Given the description of an element on the screen output the (x, y) to click on. 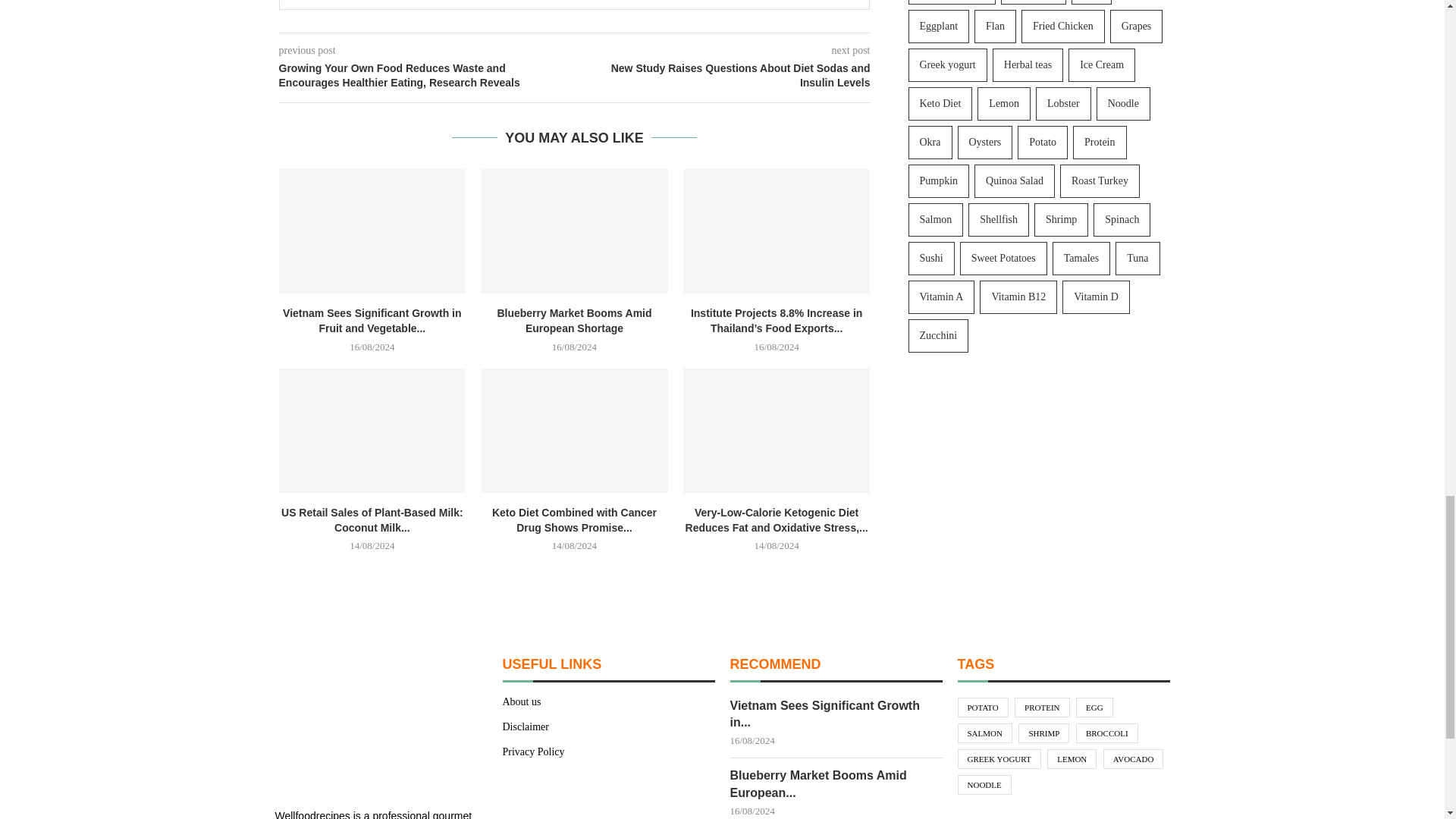
Blueberry Market Booms Amid European Shortage (574, 230)
